Given the description of an element on the screen output the (x, y) to click on. 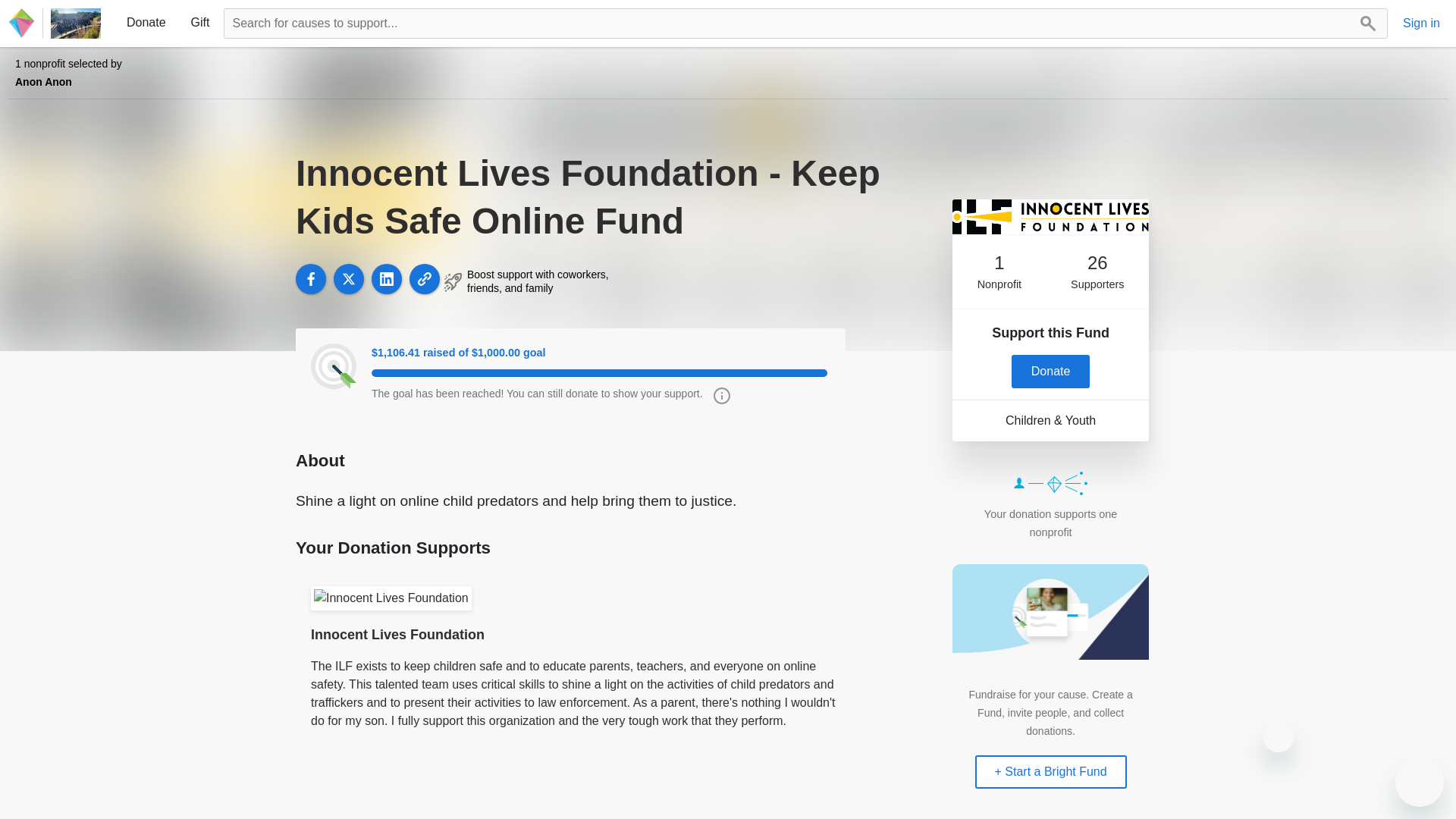
Gift (200, 22)
Icon - information Created with Sketch. (721, 395)
Donate (146, 22)
Icon - information Created with Sketch. (716, 399)
Donate (1050, 371)
Sign in (1421, 23)
goal-icon-60px Created with Sketch. (333, 366)
